Given the description of an element on the screen output the (x, y) to click on. 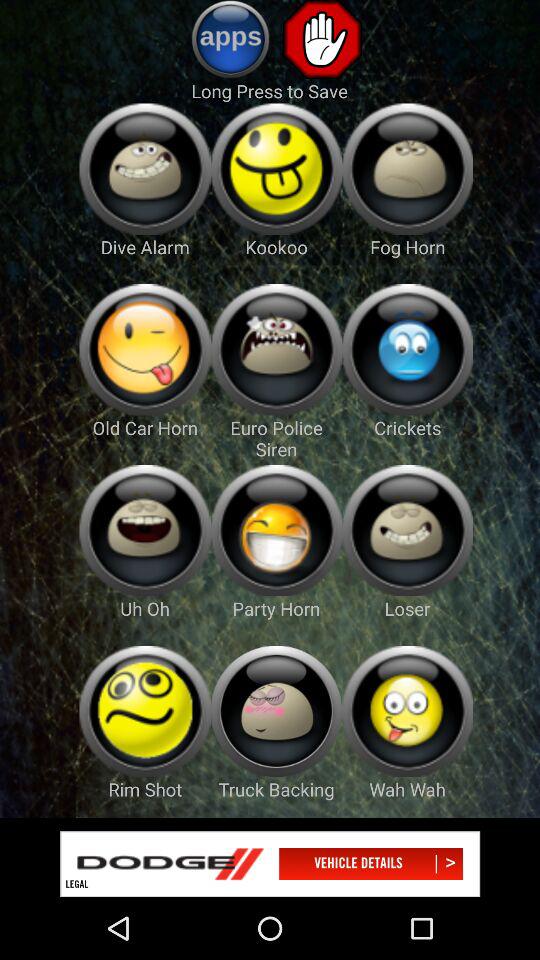
open advertisement (270, 864)
